Given the description of an element on the screen output the (x, y) to click on. 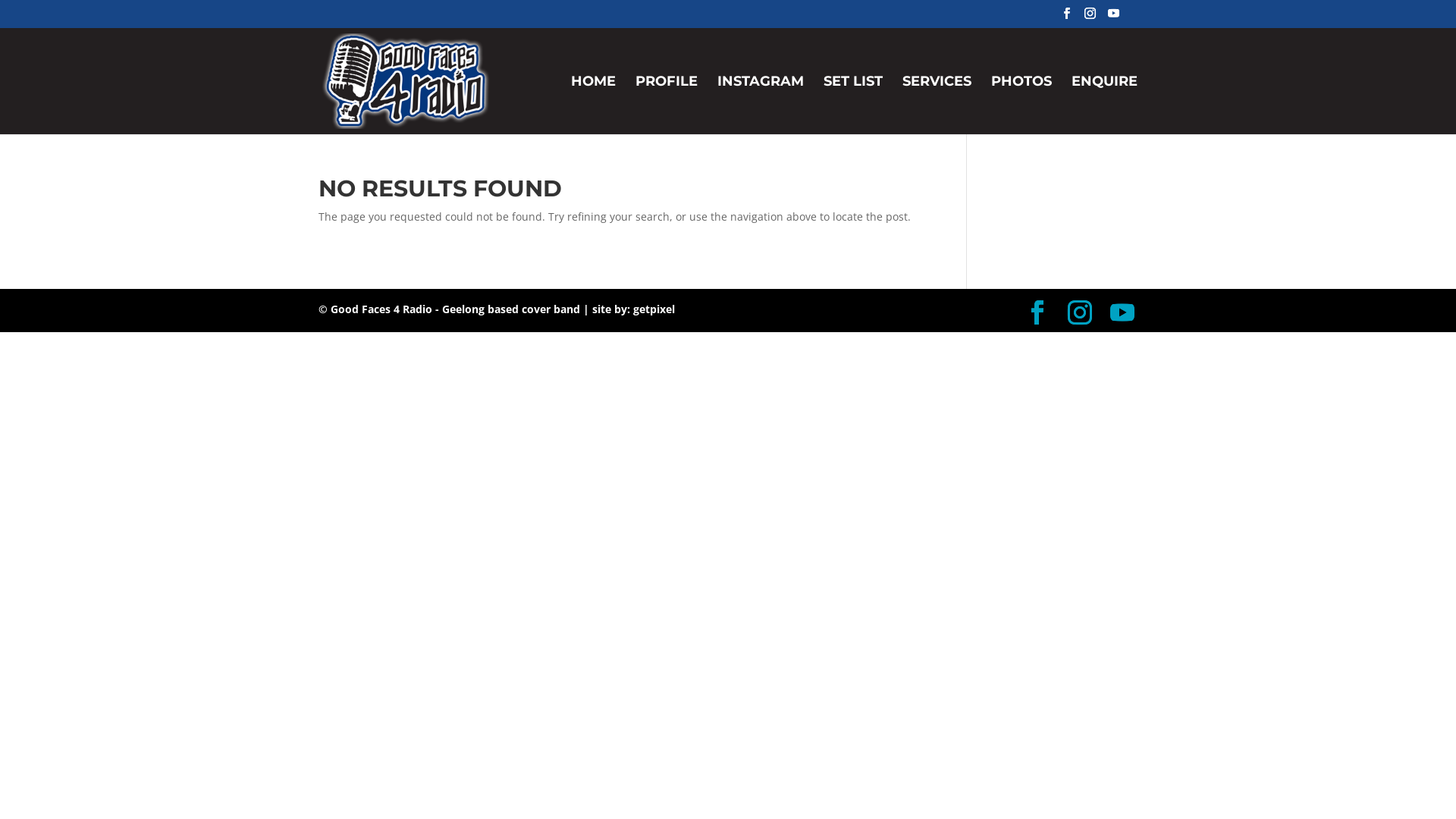
site by: getpixel Element type: text (633, 308)
INSTAGRAM Element type: text (760, 104)
PROFILE Element type: text (666, 104)
SET LIST Element type: text (852, 104)
PHOTOS Element type: text (1021, 104)
SERVICES Element type: text (936, 104)
ENQUIRE Element type: text (1104, 104)
HOME Element type: text (593, 104)
